Given the description of an element on the screen output the (x, y) to click on. 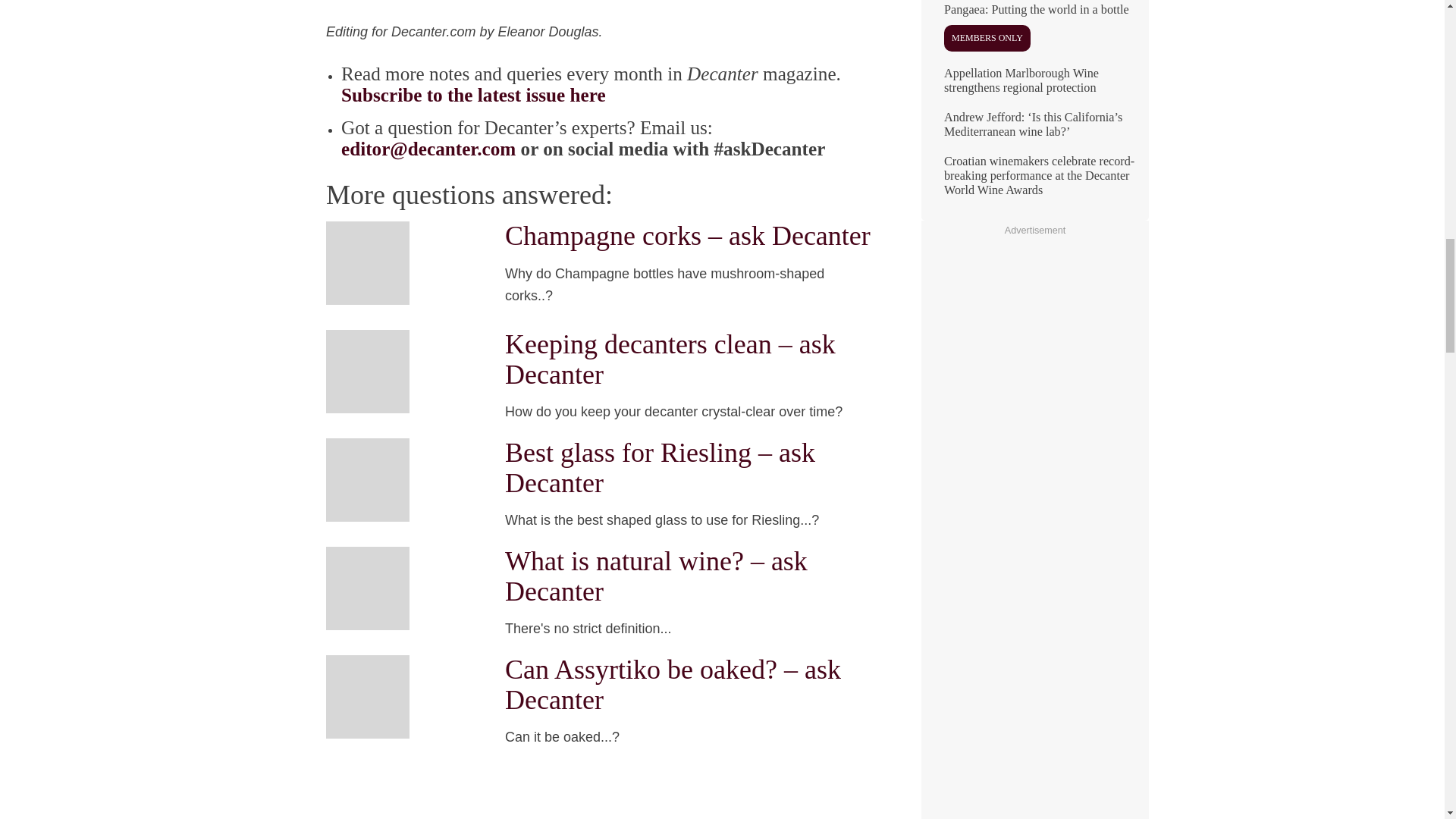
Pangaea: Putting the world in a bottle (1035, 33)
Appellation Marlborough Wine strengthens regional protection (1035, 86)
